Given the description of an element on the screen output the (x, y) to click on. 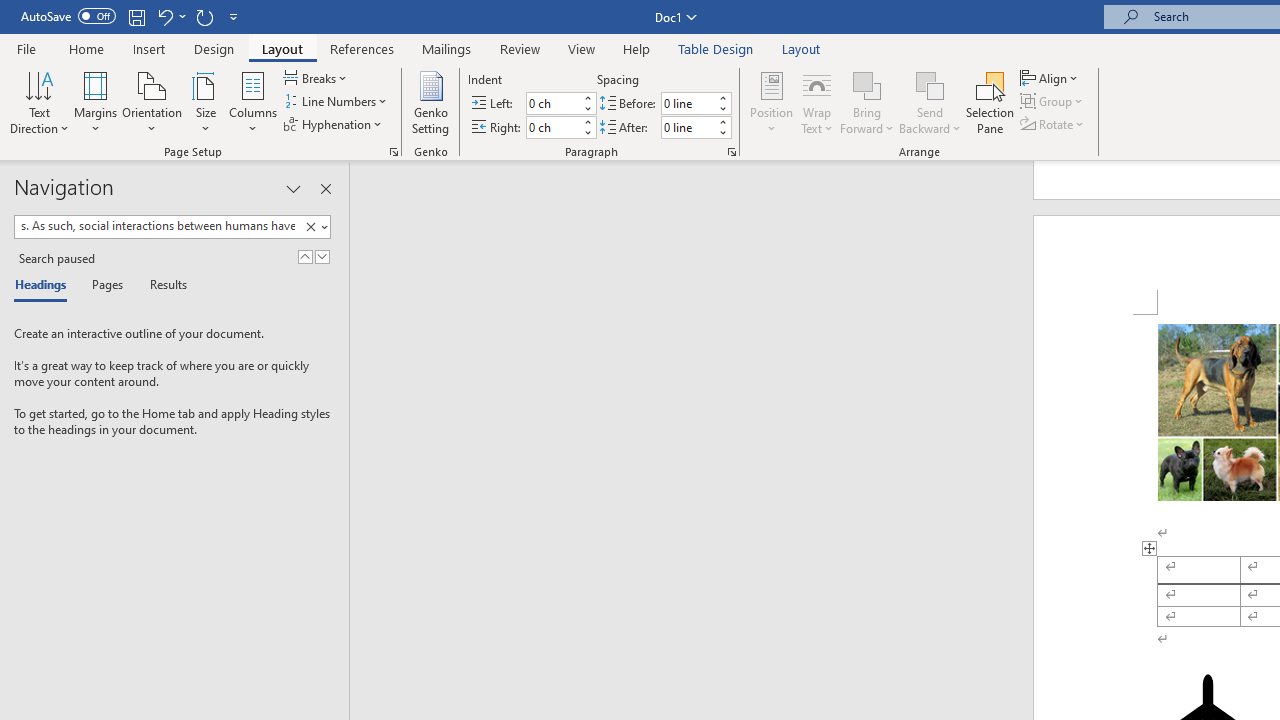
Less (722, 132)
Orientation (152, 102)
Next Result (322, 256)
Columns (253, 102)
Margins (95, 102)
Page Setup... (393, 151)
Position (771, 102)
Undo Style (170, 15)
Previous Result (304, 256)
